Given the description of an element on the screen output the (x, y) to click on. 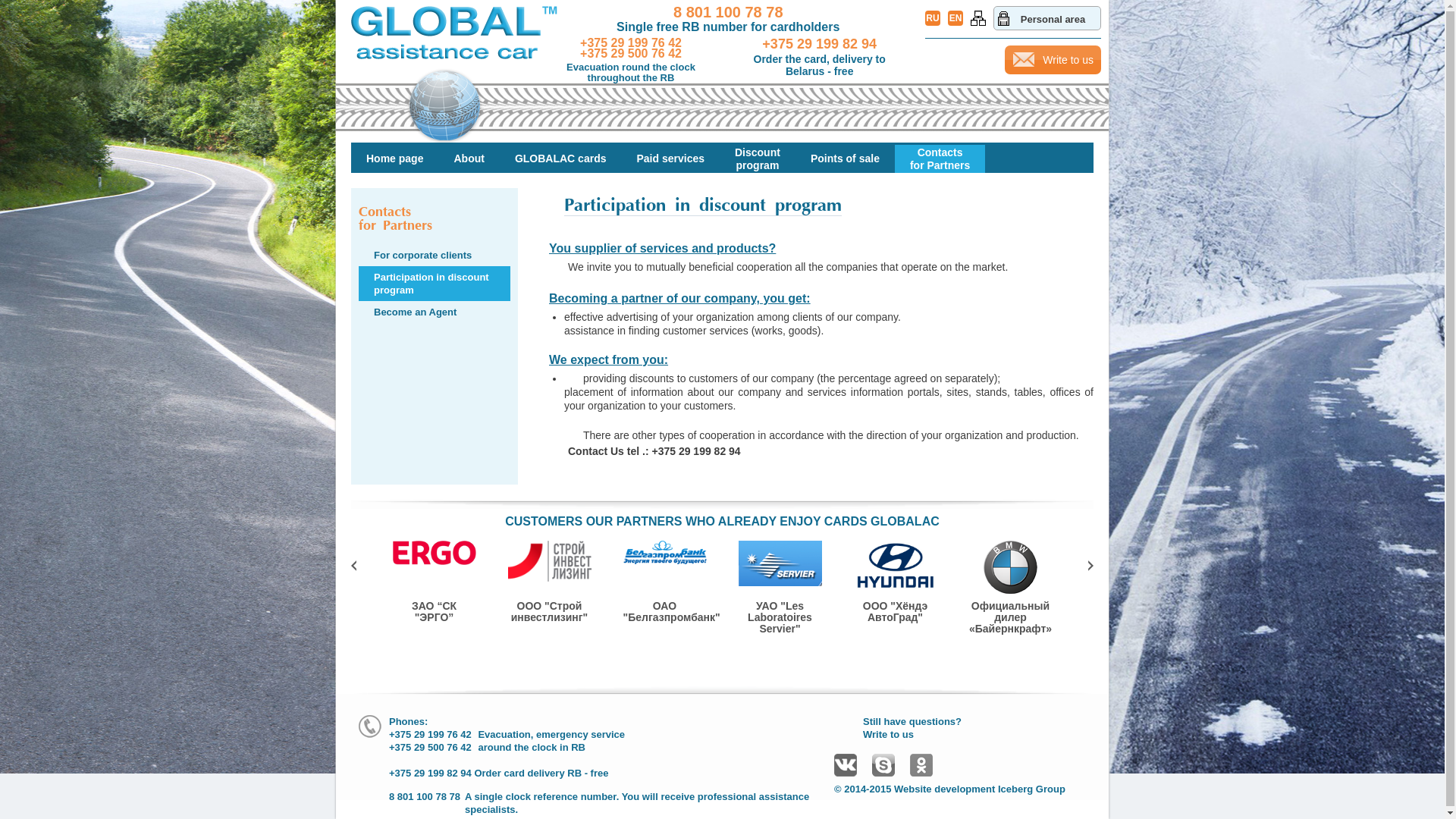
Points of sale Element type: text (844, 158)
Write to us Element type: text (1052, 59)
Become an Agent Element type: text (407, 311)
Contacts
for Partners Element type: text (939, 158)
Discount
program Element type: text (757, 158)
EN Element type: text (955, 17)
Contacts
for Partners Element type: text (395, 219)
Participation in discount program Element type: text (434, 283)
Global Assistance Car Element type: text (454, 78)
Personal area Element type: text (1046, 17)
About Element type: text (468, 158)
RU Element type: text (932, 17)
For corporate clients Element type: text (414, 254)
Still have questions?
Write to us Element type: text (911, 727)
GLOBALAC cards Element type: text (560, 158)
Home page Element type: text (394, 158)
Paid services Element type: text (670, 158)
